Given the description of an element on the screen output the (x, y) to click on. 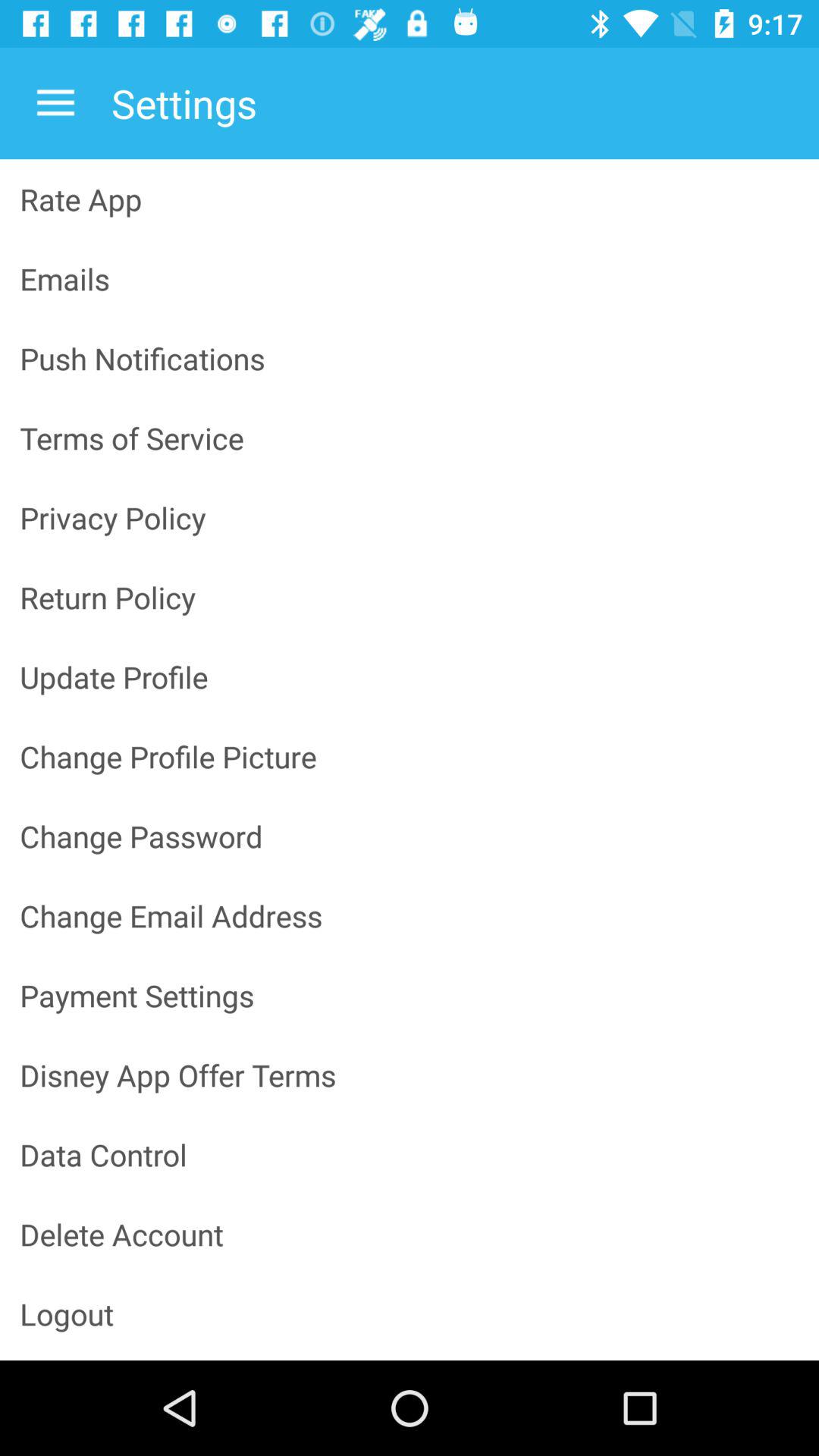
turn off item above the privacy policy icon (409, 438)
